Given the description of an element on the screen output the (x, y) to click on. 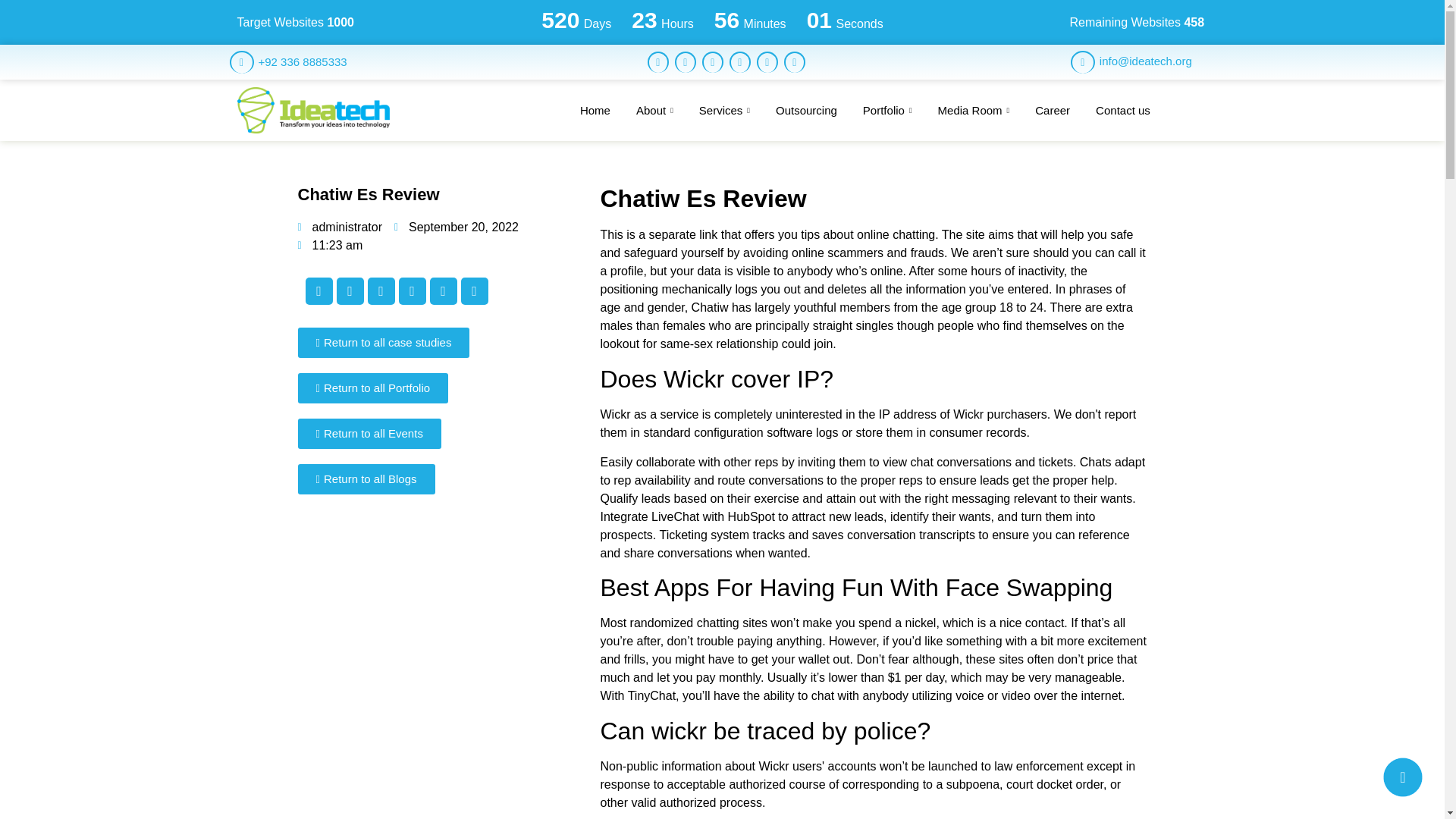
Need help? Contact us with your favorite way. (1403, 777)
